Given the description of an element on the screen output the (x, y) to click on. 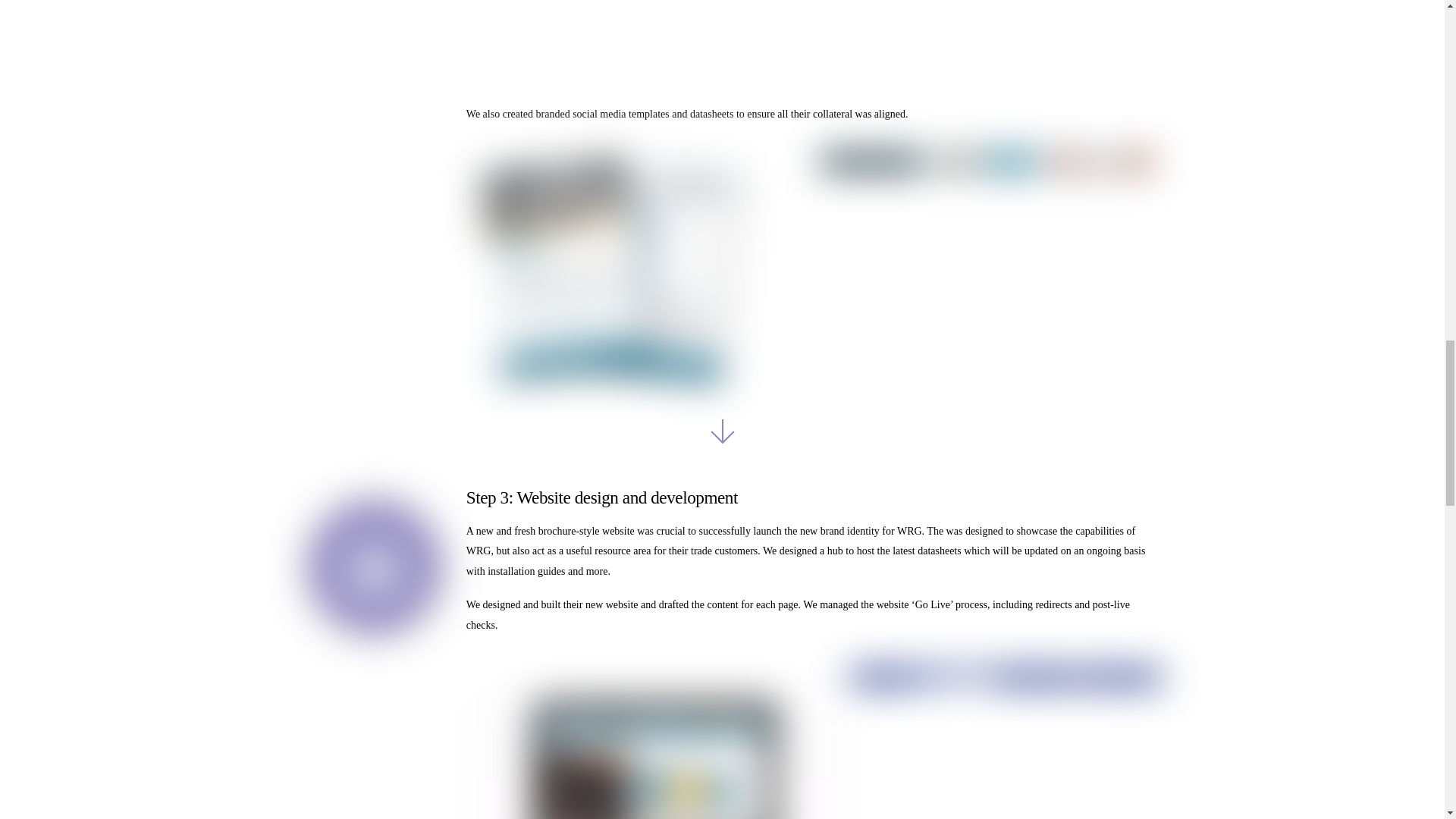
web-design (373, 567)
image5 (618, 269)
old-wrg (1005, 744)
image7 (987, 270)
WWCWRGIDMcasestudyassets-ezgif.com-video-to-gif-converter (660, 755)
